Given the description of an element on the screen output the (x, y) to click on. 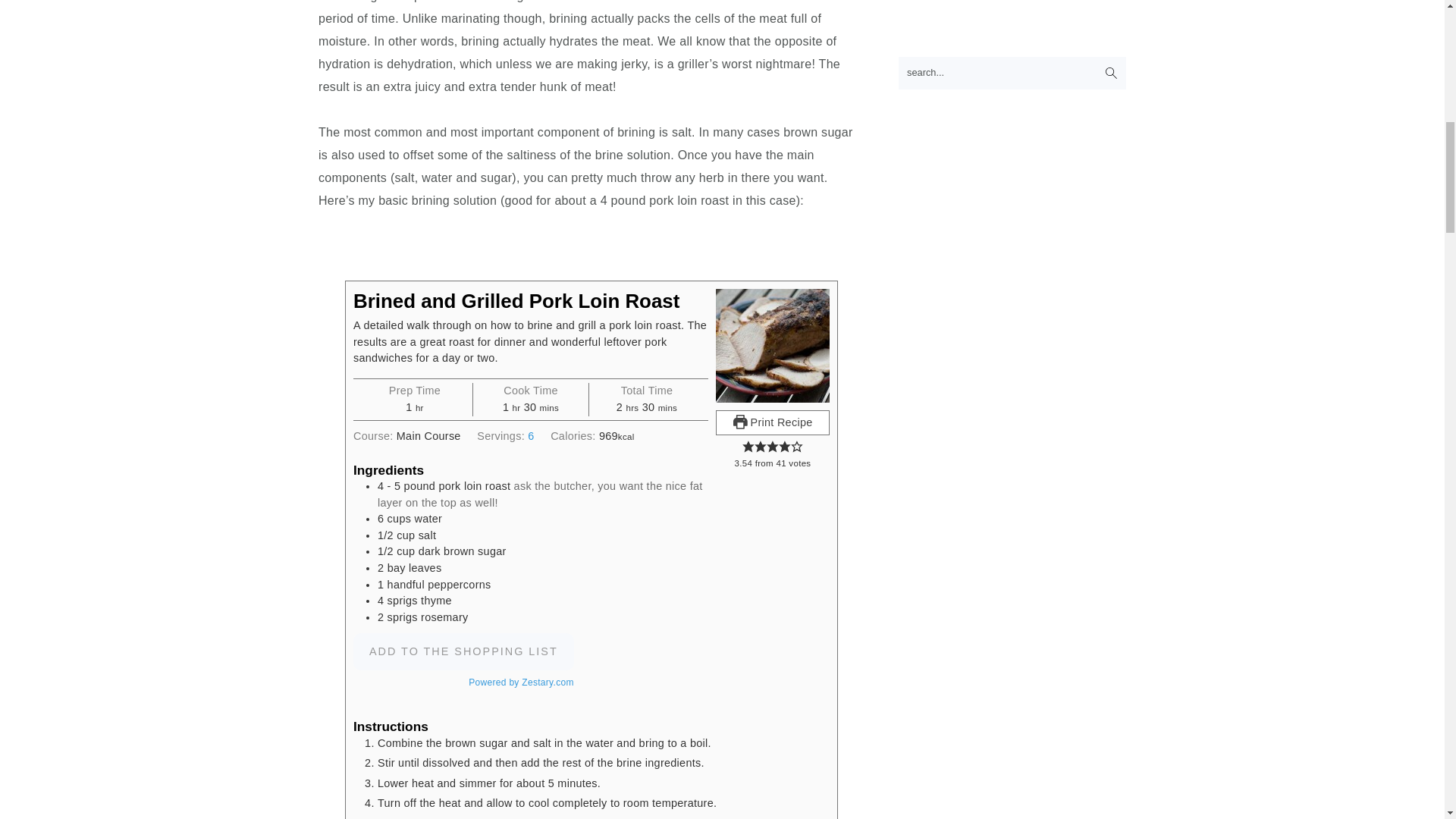
ADD TO THE SHOPPING LIST (463, 651)
Print Recipe (772, 422)
Powered by Zestary.com (520, 682)
Powered by Zestary.com (520, 682)
